Given the description of an element on the screen output the (x, y) to click on. 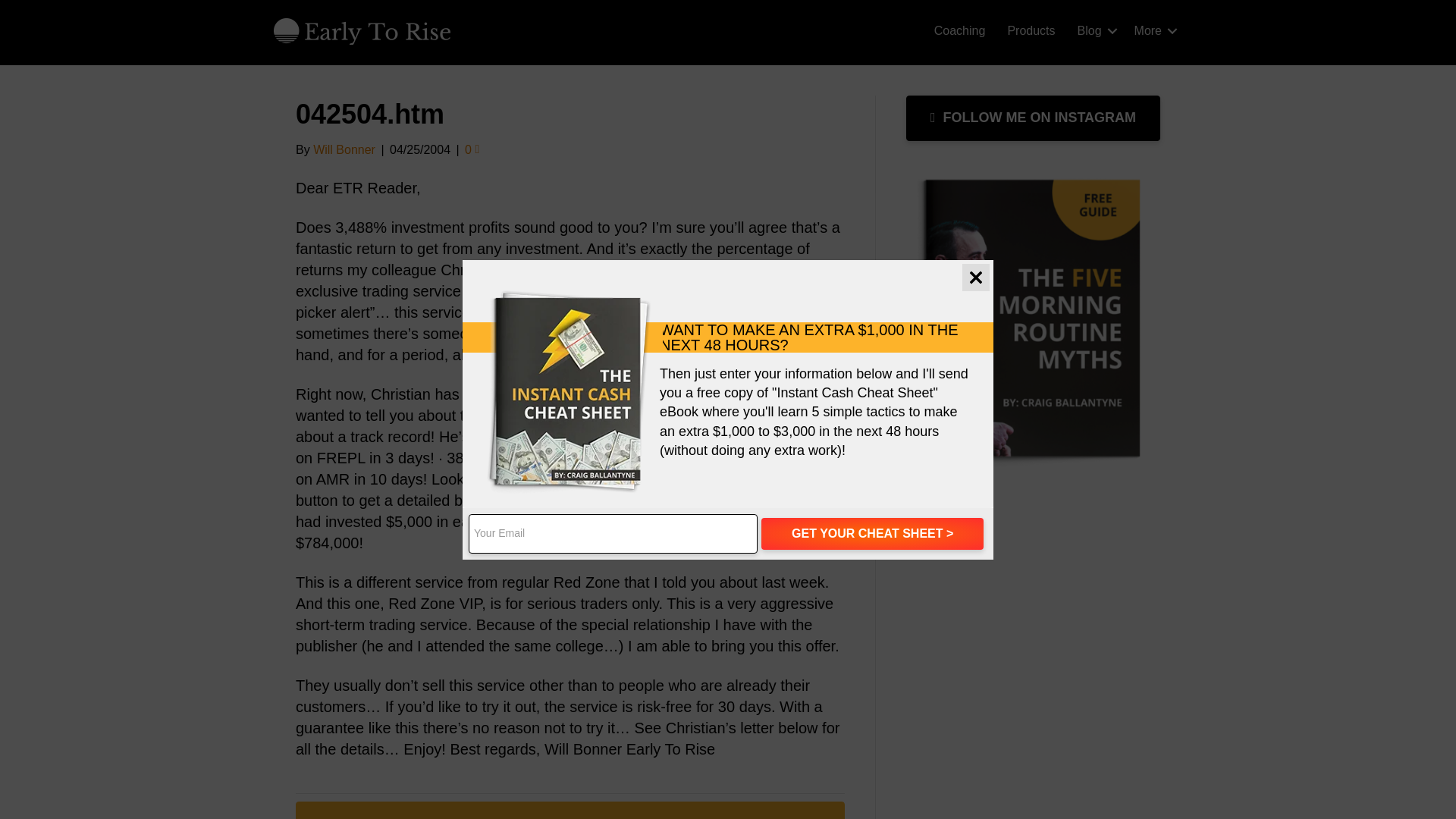
More (1153, 30)
0 (471, 149)
etr-logo-white (362, 31)
Close (976, 277)
Blog (1094, 30)
FOLLOW ME ON INSTAGRAM (1032, 117)
Products (1030, 30)
Will Bonner (344, 149)
Coaching (959, 30)
